Given the description of an element on the screen output the (x, y) to click on. 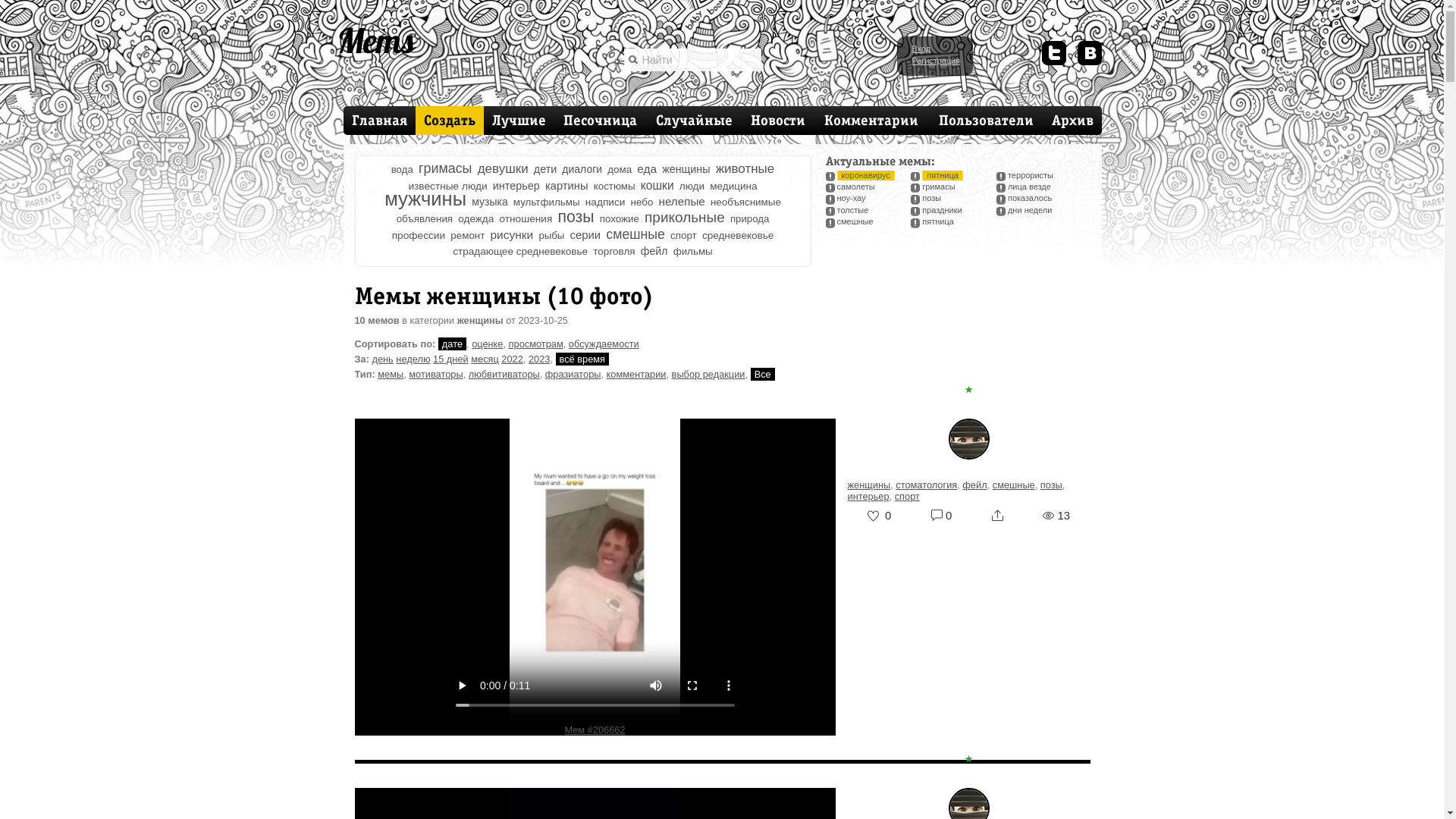
0 Element type: text (941, 515)
sorted Element type: text (968, 448)
sorted Element type: text (869, 452)
2023 Element type: text (538, 358)
2022 Element type: text (511, 358)
